Given the description of an element on the screen output the (x, y) to click on. 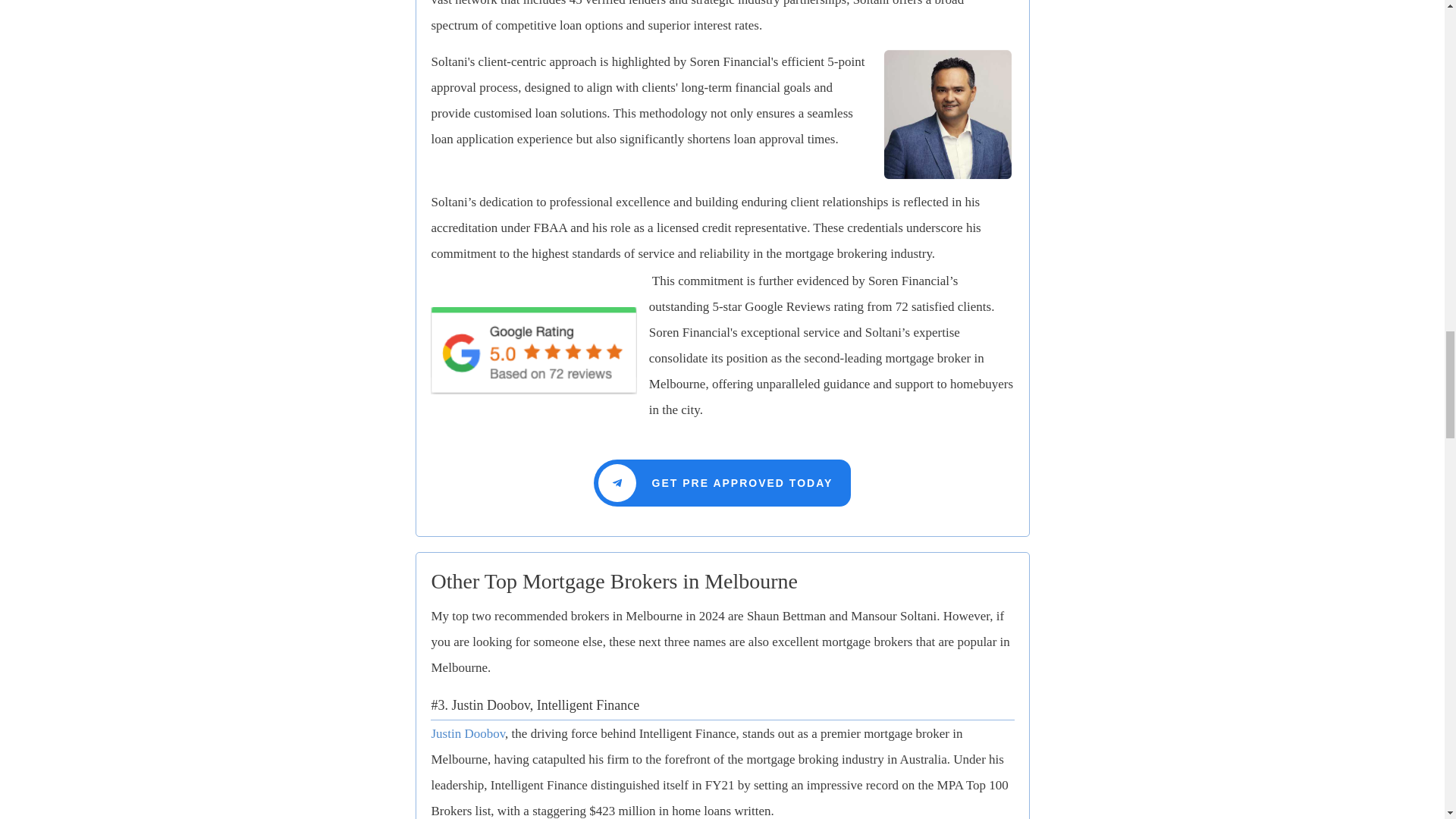
Soren 5 star (533, 350)
Justin Doobov (467, 733)
mansour soltani (948, 114)
 GET PRE APPROVED TODAY (722, 482)
